Given the description of an element on the screen output the (x, y) to click on. 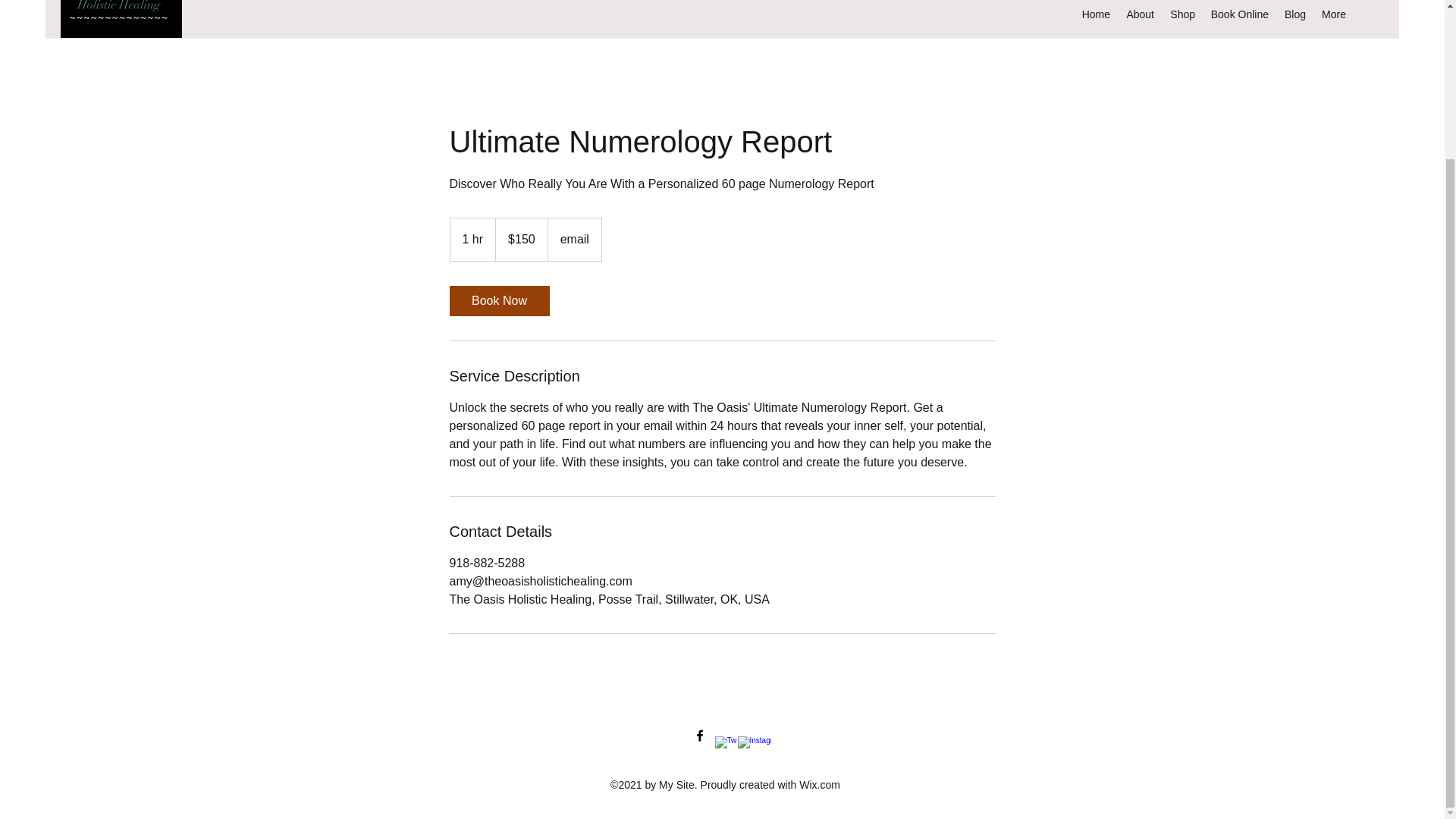
Blog (1294, 14)
Shop (1181, 14)
Home (1096, 14)
About (1139, 14)
Book Now (498, 300)
Book Online (1239, 14)
